Given the description of an element on the screen output the (x, y) to click on. 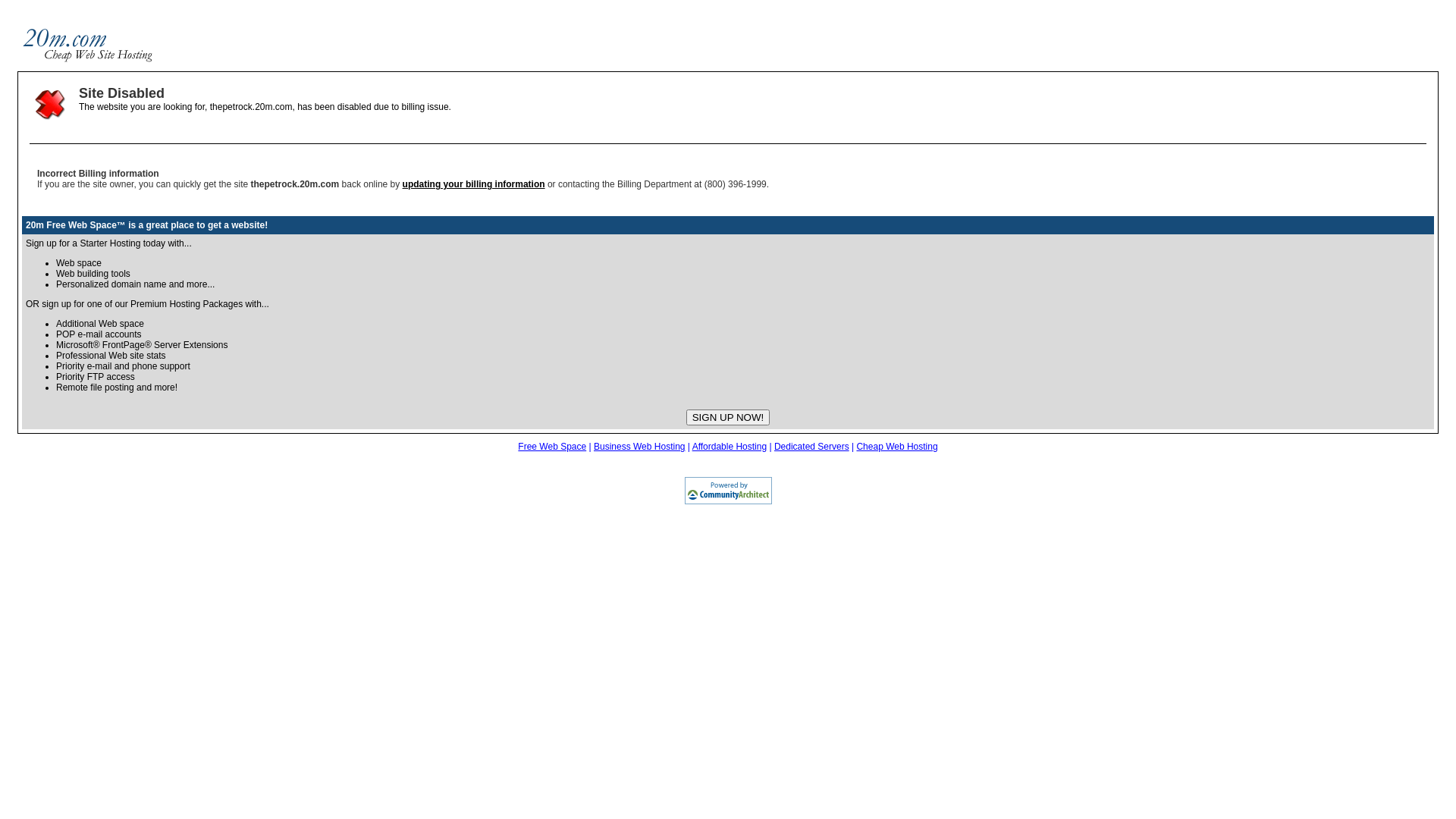
Dedicated Servers Element type: text (811, 446)
updating your billing information Element type: text (473, 183)
SIGN UP NOW! Element type: text (728, 417)
Free Web Space Element type: text (551, 446)
Affordable Hosting Element type: text (729, 446)
Cheap Web Hosting Element type: text (896, 446)
Business Web Hosting Element type: text (639, 446)
